Given the description of an element on the screen output the (x, y) to click on. 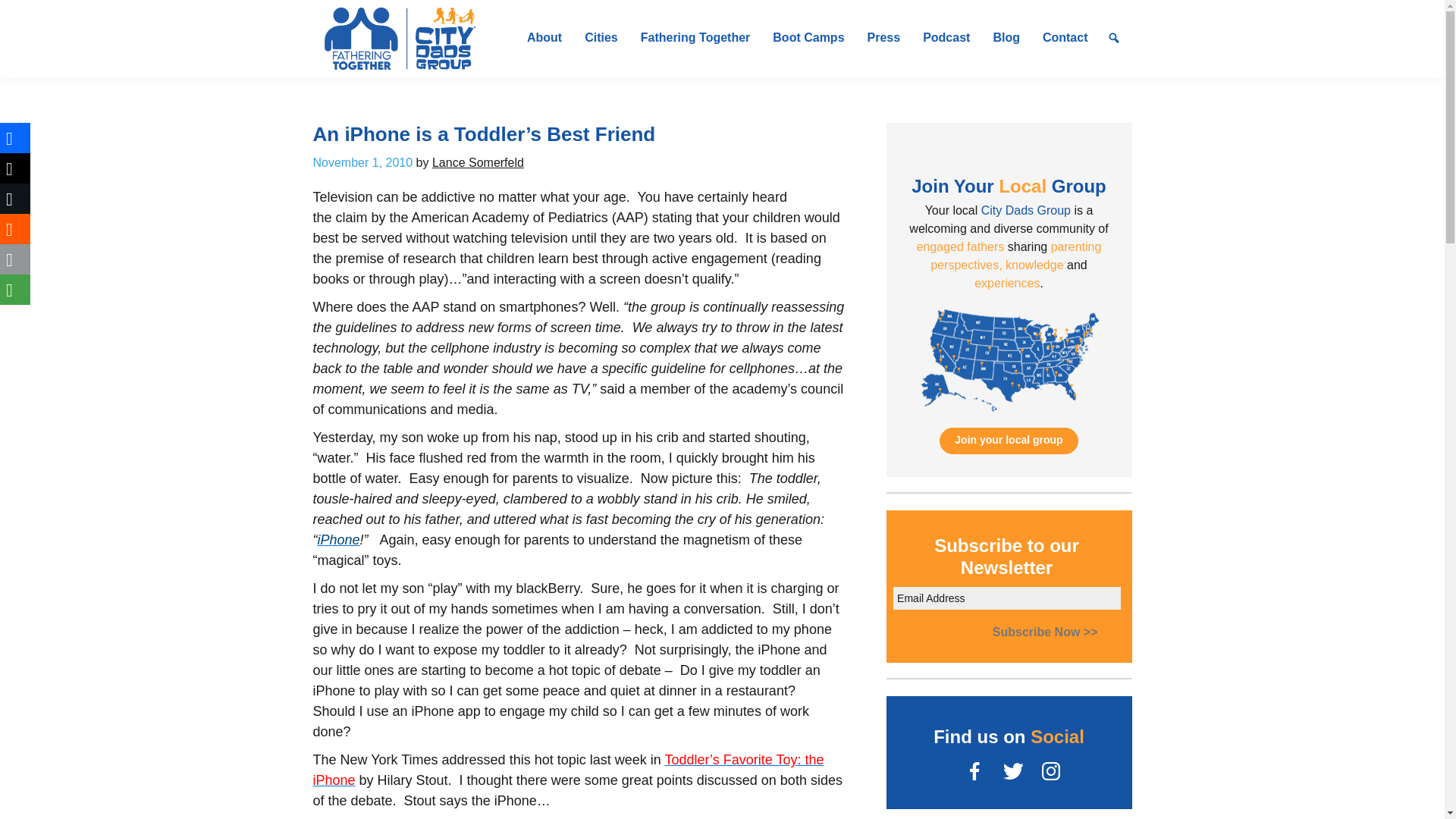
Recent and archival news about the iPhone. (338, 539)
Press (884, 37)
Contact (1064, 37)
About (544, 37)
Boot Camps (808, 37)
Cities (600, 37)
Lance Somerfeld (478, 162)
Fathering Together (694, 37)
iPhone (338, 539)
Podcast (946, 37)
Blog (1005, 37)
